Given the description of an element on the screen output the (x, y) to click on. 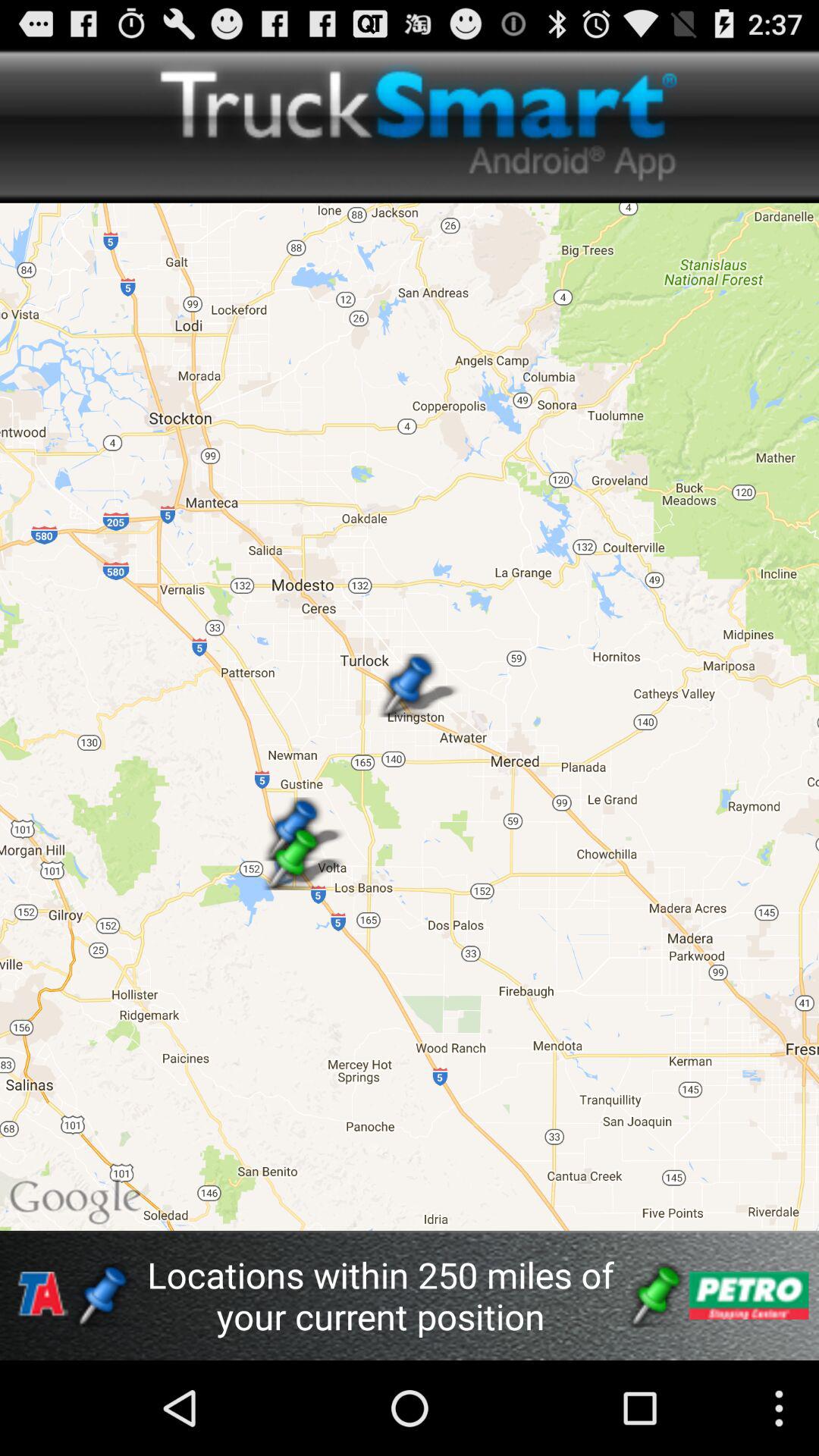
click item at the center (409, 716)
